Given the description of an element on the screen output the (x, y) to click on. 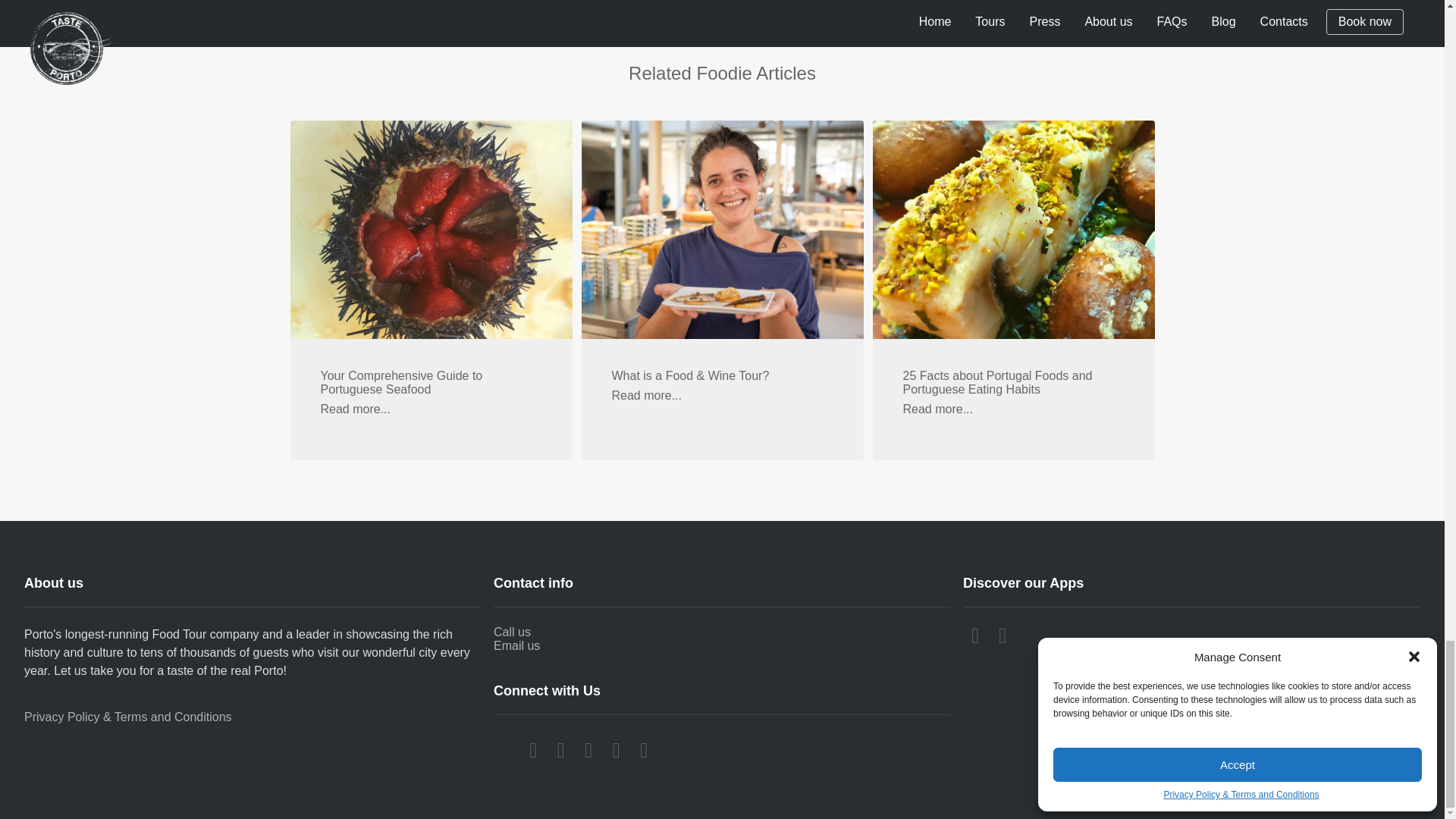
Read more... (646, 395)
Read more... (937, 409)
Email us (721, 645)
Read more... (355, 409)
Call us (721, 632)
